Given the description of an element on the screen output the (x, y) to click on. 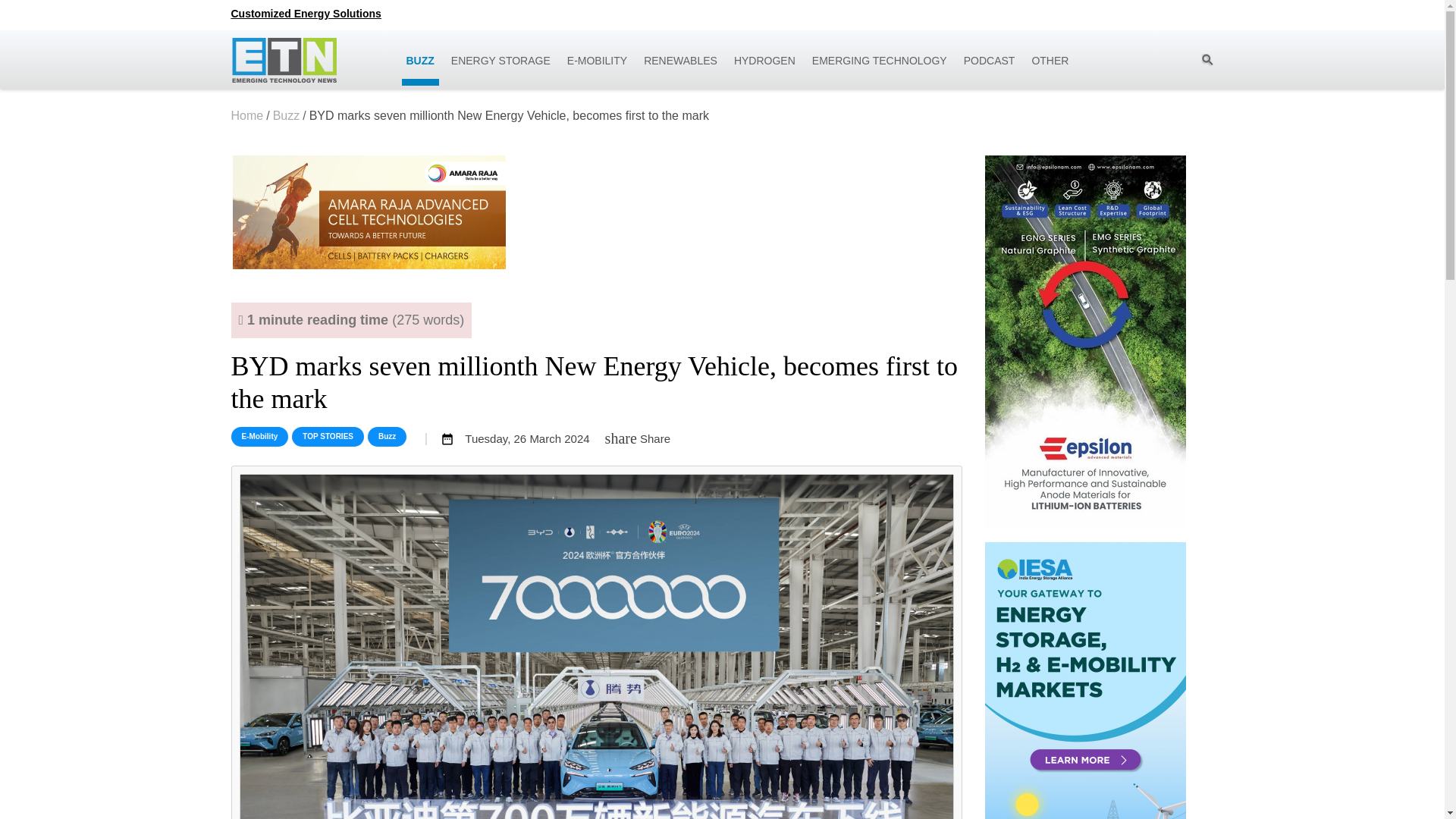
OTHER (1049, 64)
PODCAST (989, 64)
Buzz (387, 436)
TOP STORIES (328, 436)
HYDROGEN (764, 64)
E-MOBILITY (596, 64)
Buzz (286, 115)
share Share (637, 438)
E-Mobility (259, 436)
Customized Energy Solutions (305, 13)
